Given the description of an element on the screen output the (x, y) to click on. 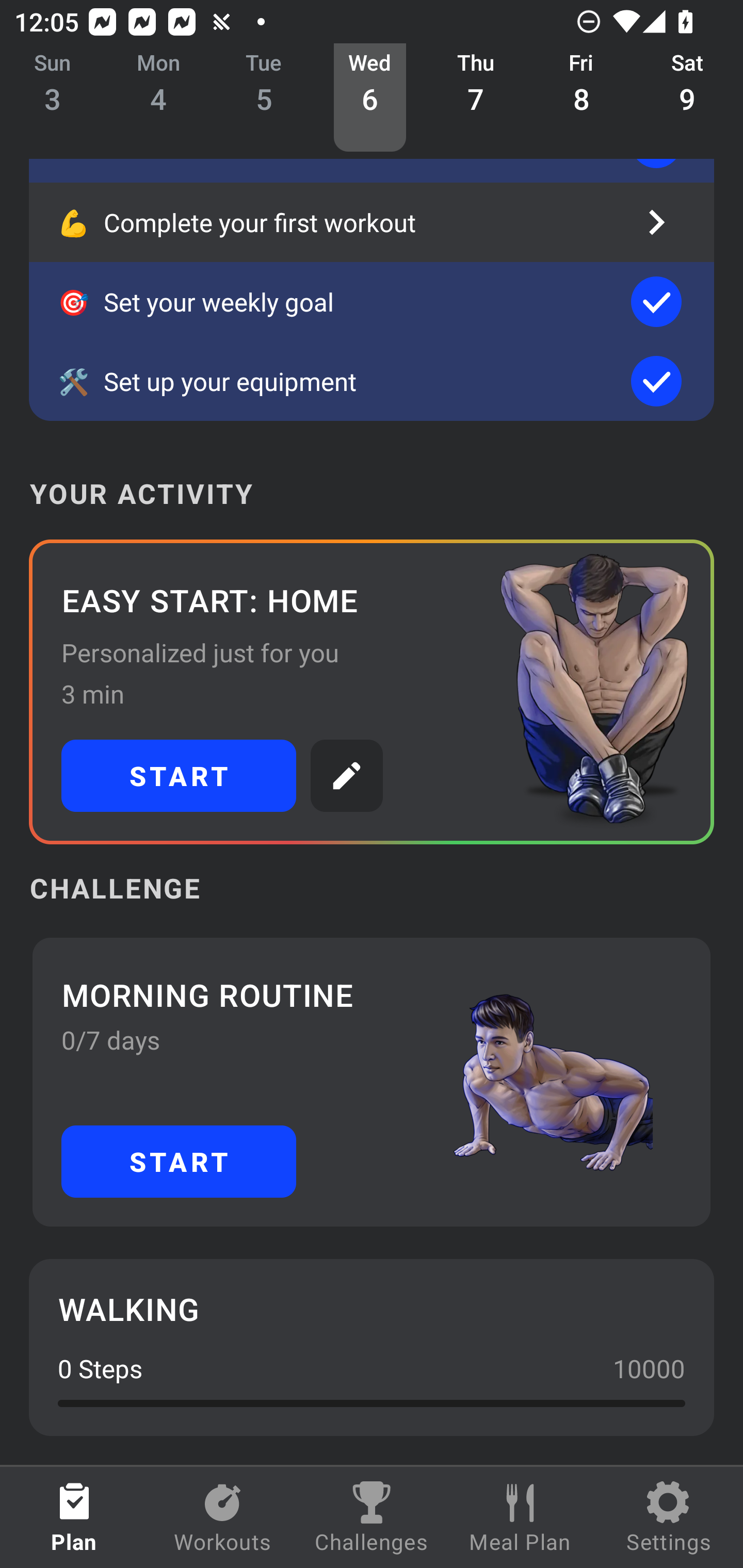
Sun 3 (52, 97)
Mon 4 (158, 97)
Tue 5 (264, 97)
Wed 6 (369, 97)
Thu 7 (475, 97)
Fri 8 (581, 97)
Sat 9 (687, 97)
💪 Complete your first workout (371, 221)
START (178, 776)
MORNING ROUTINE 0/7 days START (371, 1082)
START (178, 1161)
WALKING 0 Steps 10000 0.0 (371, 1347)
 Workouts  (222, 1517)
 Challenges  (371, 1517)
 Meal Plan  (519, 1517)
 Settings  (668, 1517)
